Given the description of an element on the screen output the (x, y) to click on. 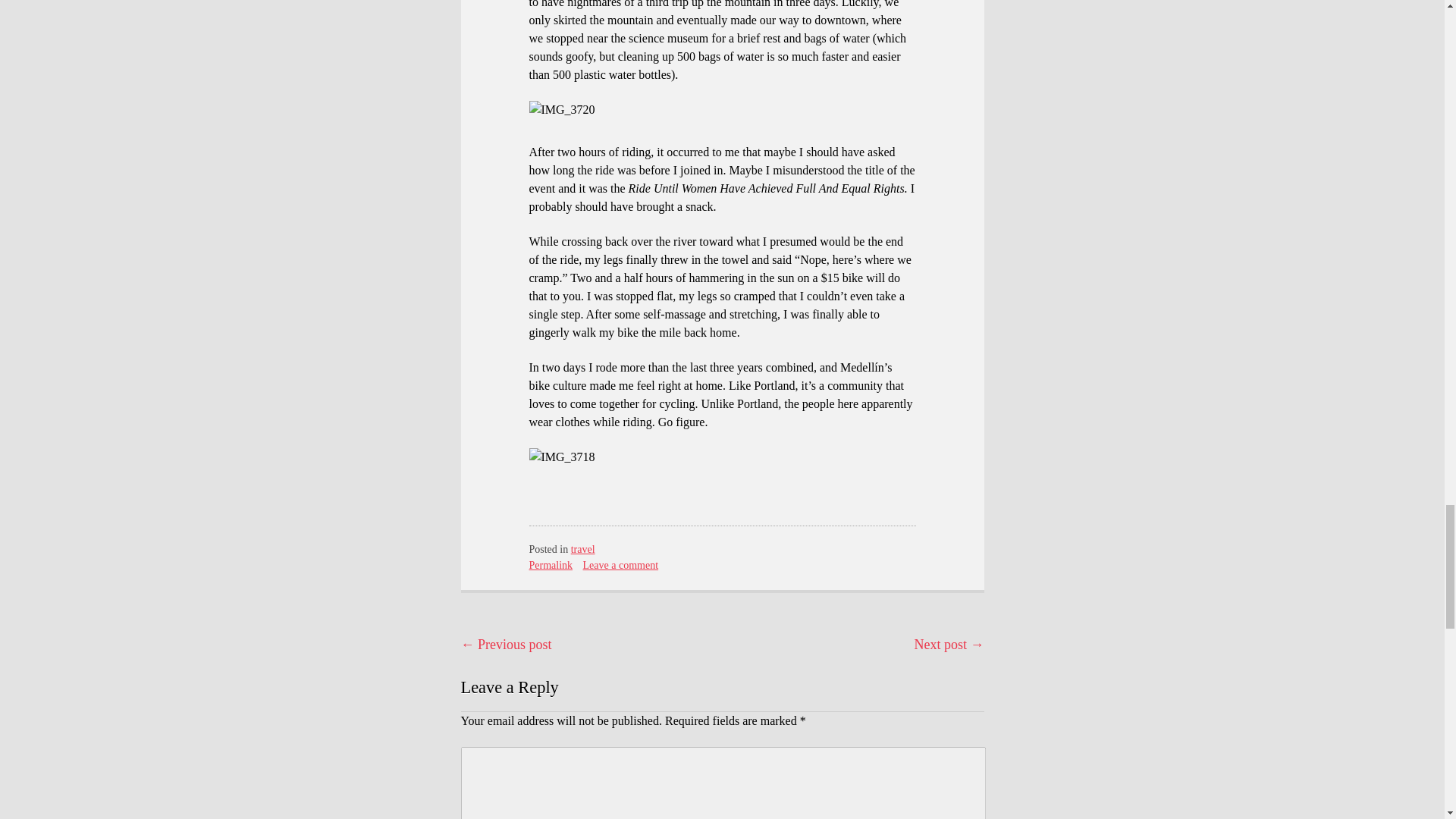
travel (582, 549)
Leave a comment (621, 564)
Permalink (551, 564)
